Given the description of an element on the screen output the (x, y) to click on. 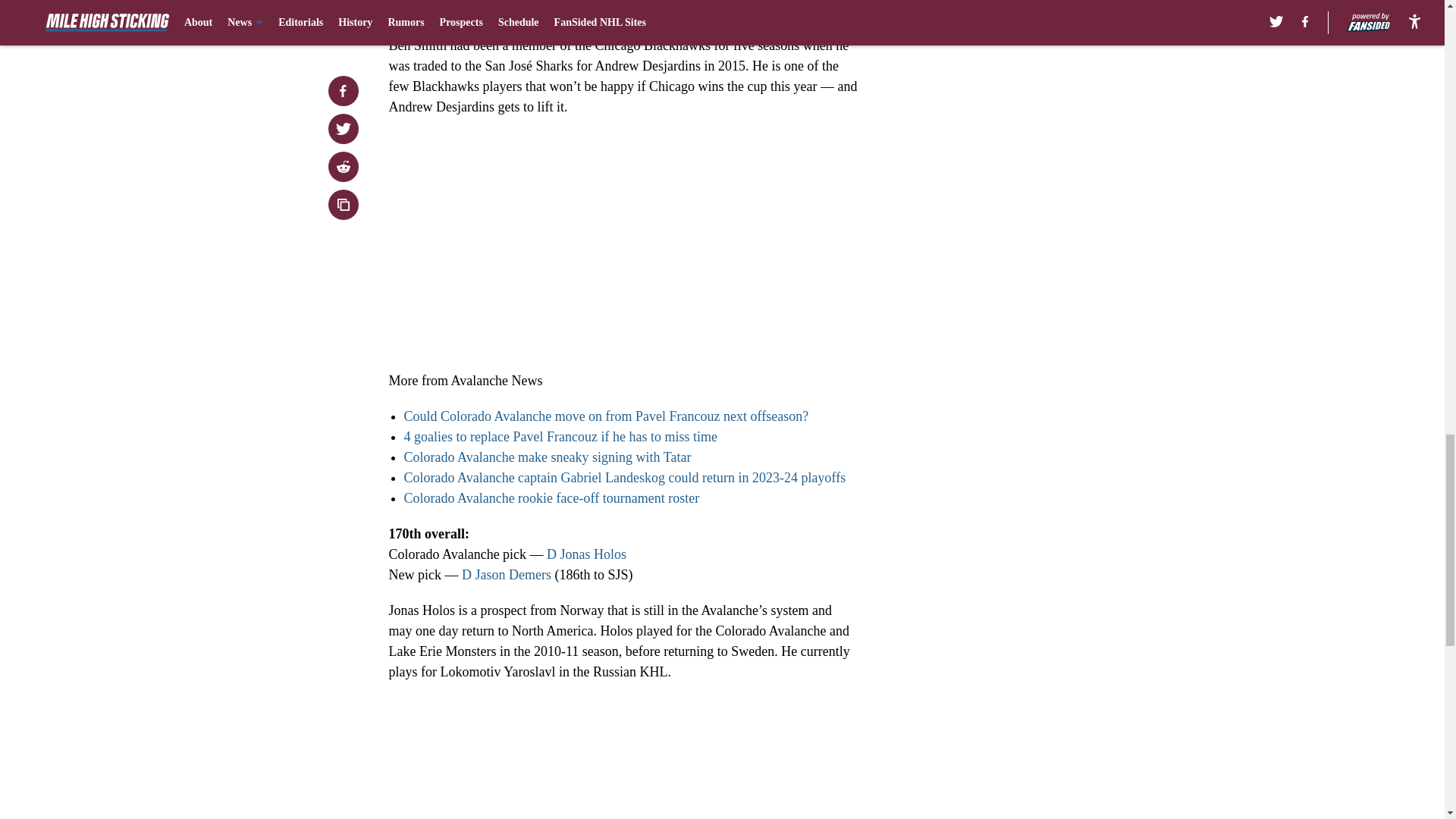
D Jason Demers (506, 574)
4 goalies to replace Pavel Francouz if he has to miss time (559, 436)
D Jonas Holos (586, 554)
Colorado Avalanche rookie face-off tournament roster (550, 498)
Colorado Avalanche make sneaky signing with Tatar (546, 457)
